Given the description of an element on the screen output the (x, y) to click on. 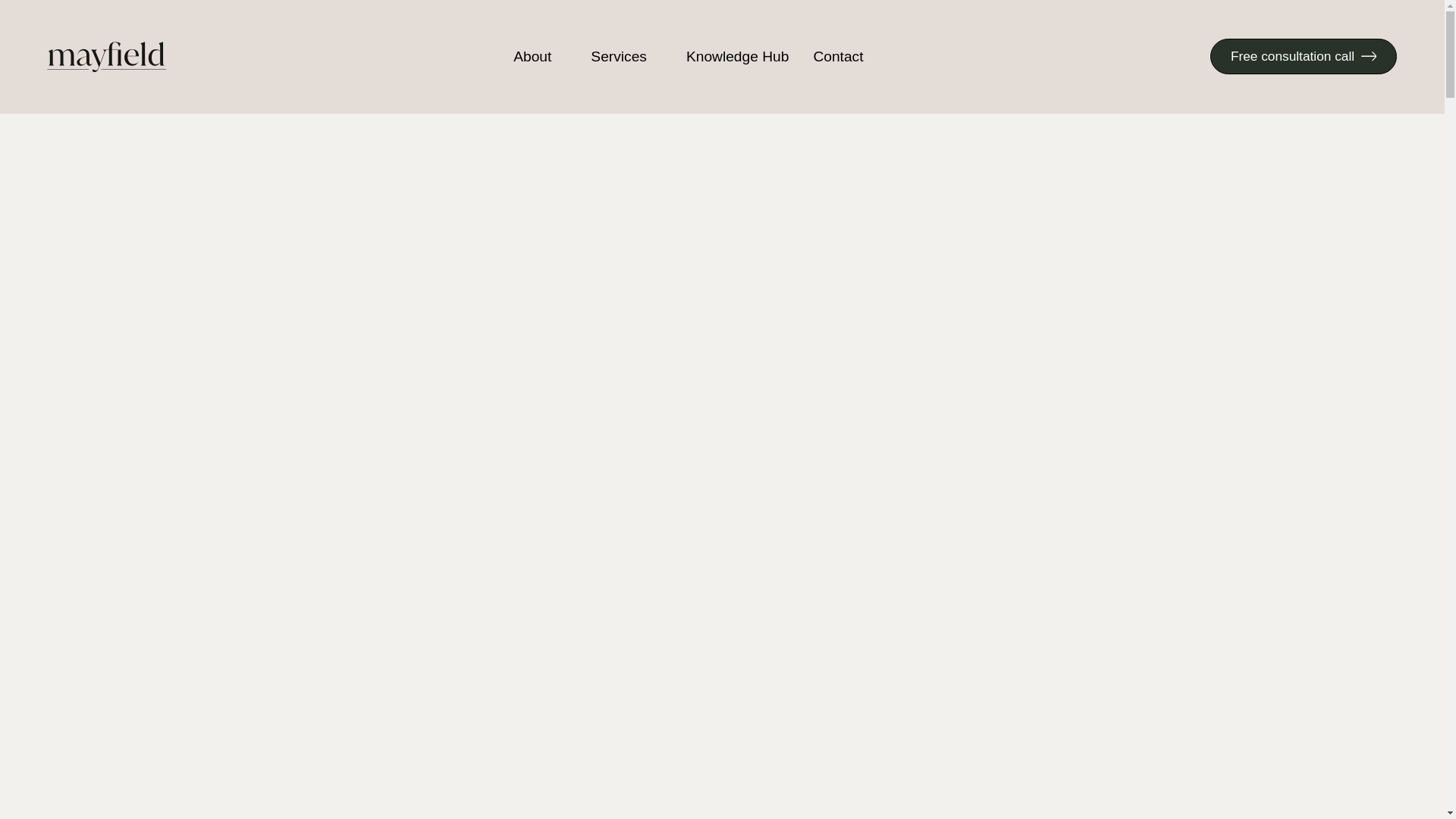
Contact (837, 56)
Knowledge Hub (737, 56)
Services (618, 56)
About (532, 56)
Free consultation call (1302, 56)
